Given the description of an element on the screen output the (x, y) to click on. 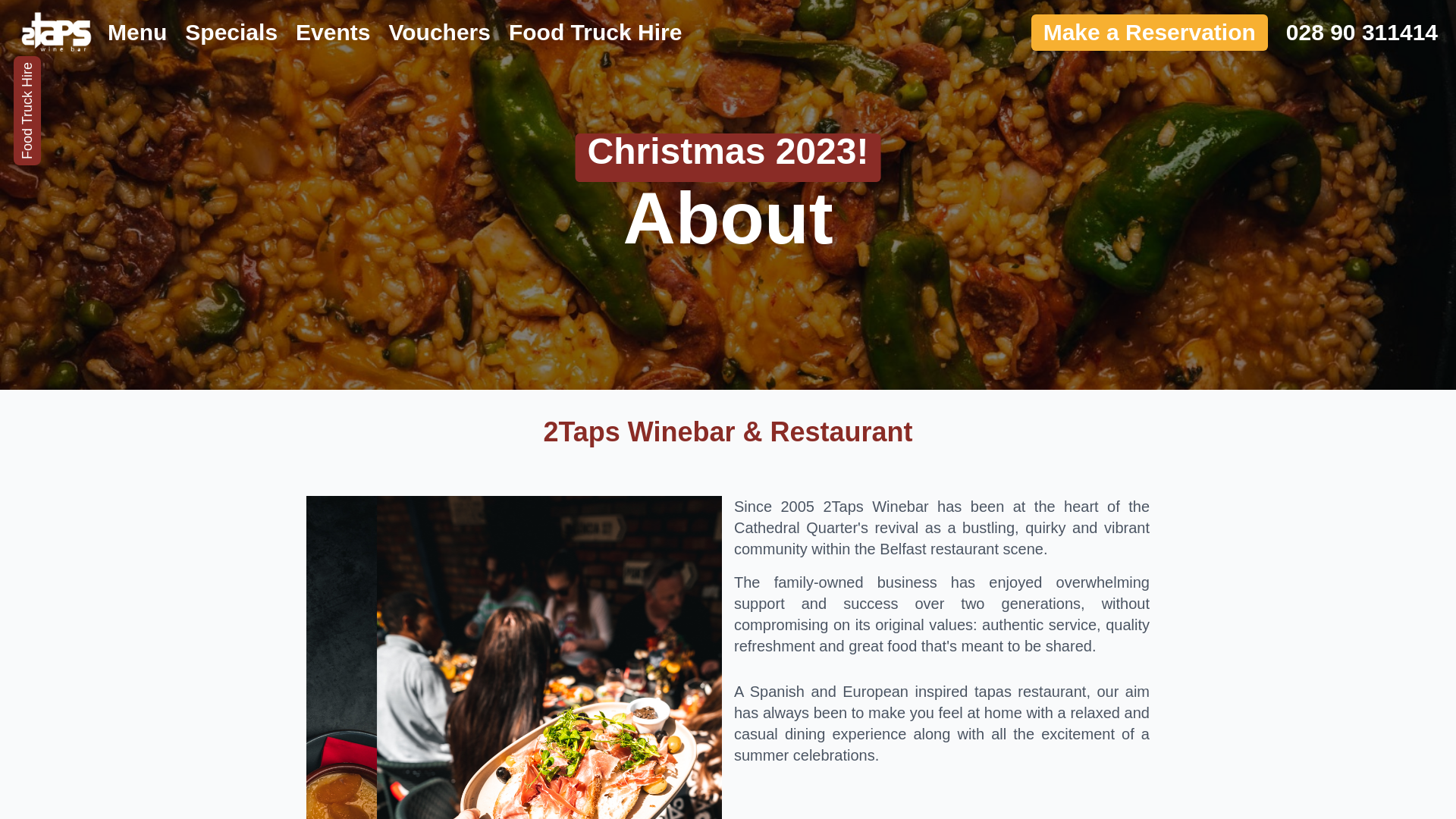
Food Truck Hire Element type: text (594, 32)
Make a Reservation Element type: text (1149, 32)
028 90 311414 Element type: text (1352, 32)
Vouchers Element type: text (439, 32)
Christmas 2023! Element type: text (728, 157)
Events Element type: text (332, 32)
Menu Element type: text (136, 32)
Specials Element type: text (231, 32)
Food Truck Hire Element type: text (67, 69)
